Given the description of an element on the screen output the (x, y) to click on. 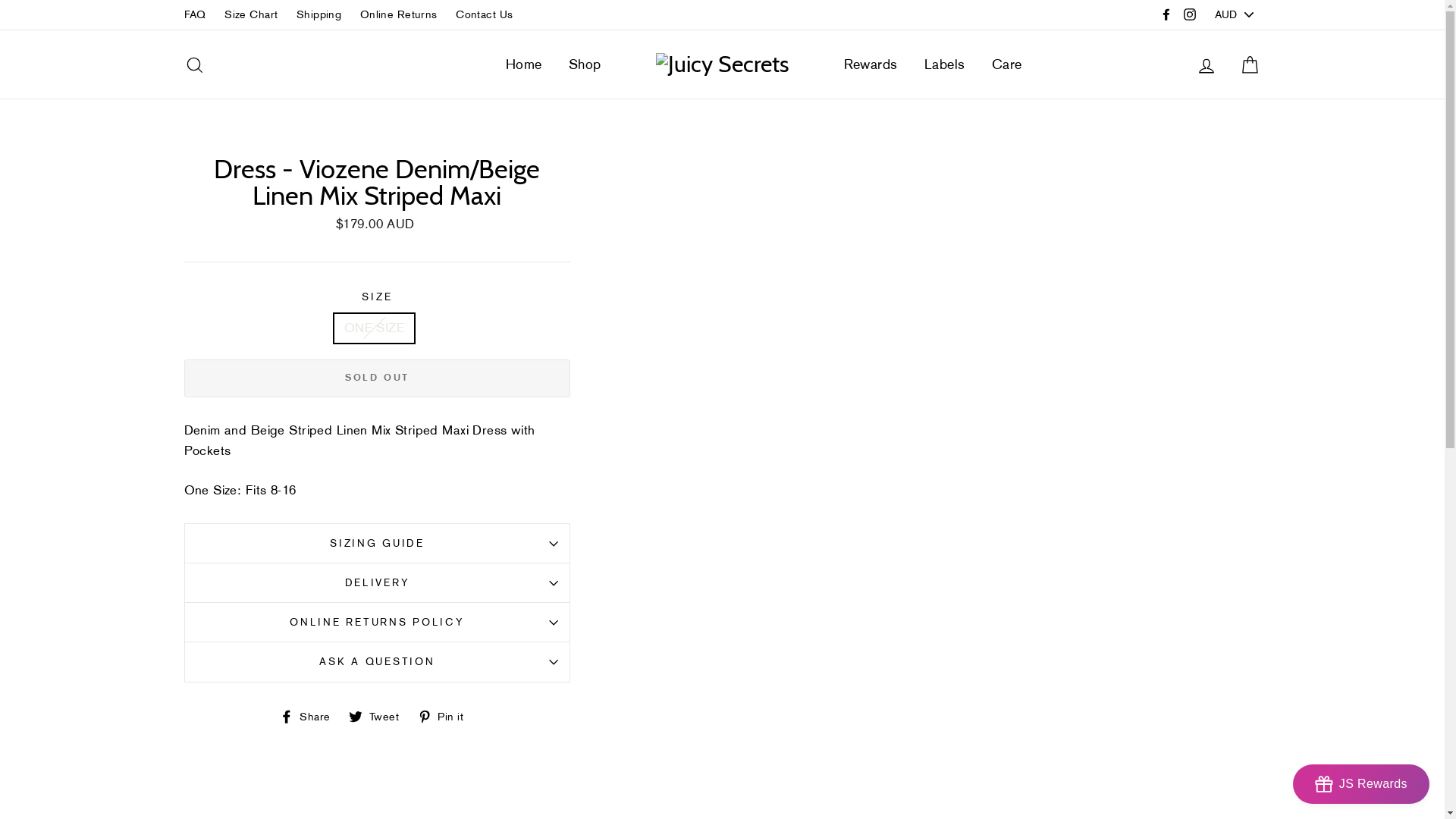
Shop Element type: text (584, 64)
Cart Element type: text (1249, 64)
Contact Us Element type: text (484, 14)
SIZING GUIDE Element type: text (376, 543)
Size Chart Element type: text (250, 14)
Home Element type: text (523, 64)
DELIVERY Element type: text (376, 582)
Pin it
Pin on Pinterest Element type: text (445, 714)
Share
Share on Facebook Element type: text (310, 714)
JS Rewards Element type: text (1360, 783)
Shipping Element type: text (318, 14)
Care Element type: text (1006, 64)
Rewards Element type: text (870, 64)
Online Returns Element type: text (398, 14)
SOLD OUT Element type: text (376, 378)
Facebook Element type: text (1166, 14)
ONLINE RETURNS POLICY Element type: text (376, 622)
Skip to content Element type: text (0, 0)
ASK A QUESTION Element type: text (376, 661)
Labels Element type: text (944, 64)
Tweet
Tweet on Twitter Element type: text (379, 714)
FAQ Element type: text (194, 14)
Instagram Element type: text (1189, 14)
